Given the description of an element on the screen output the (x, y) to click on. 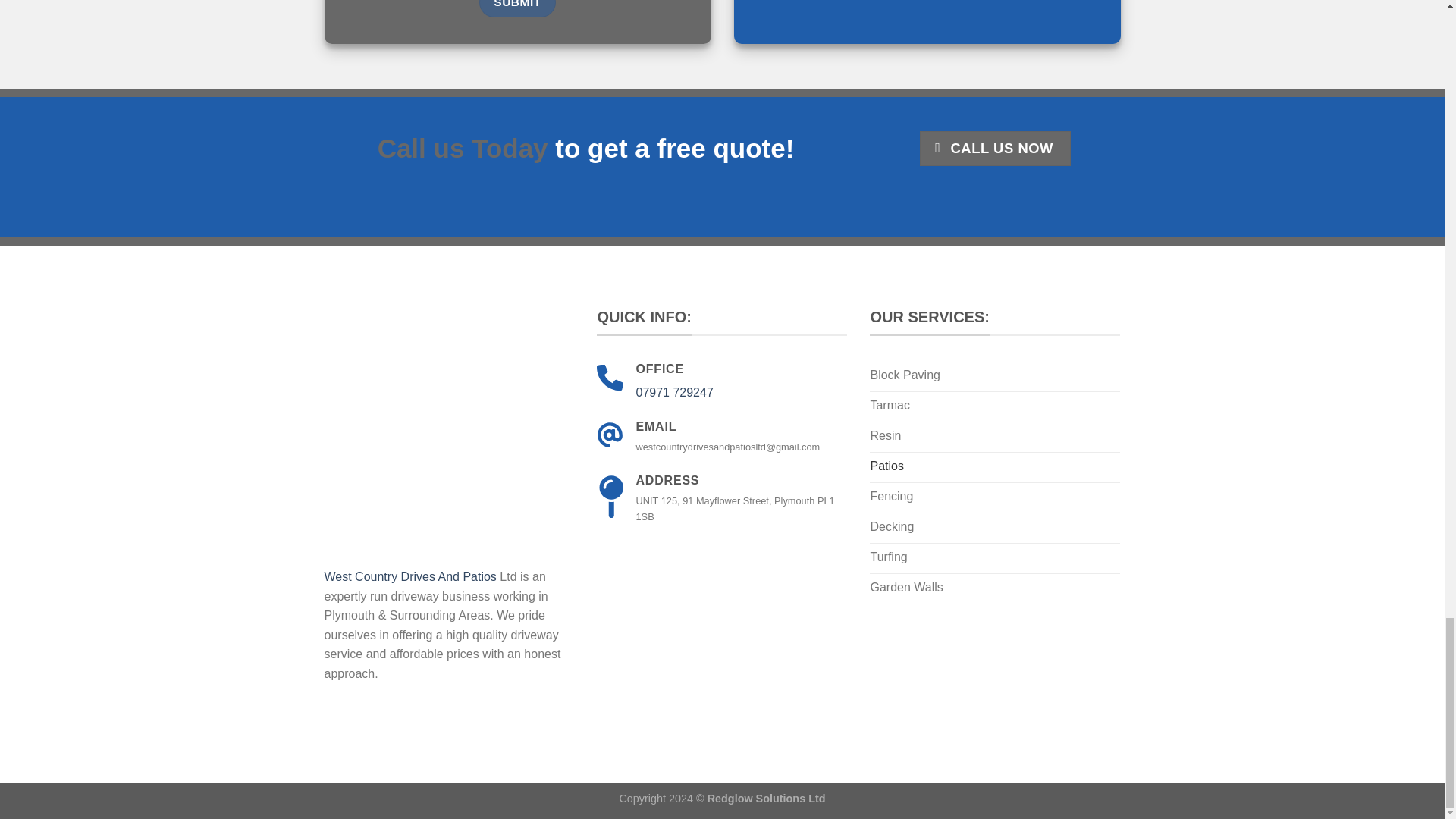
Submit (517, 8)
CALL US NOW (995, 148)
Submit (517, 8)
